Given the description of an element on the screen output the (x, y) to click on. 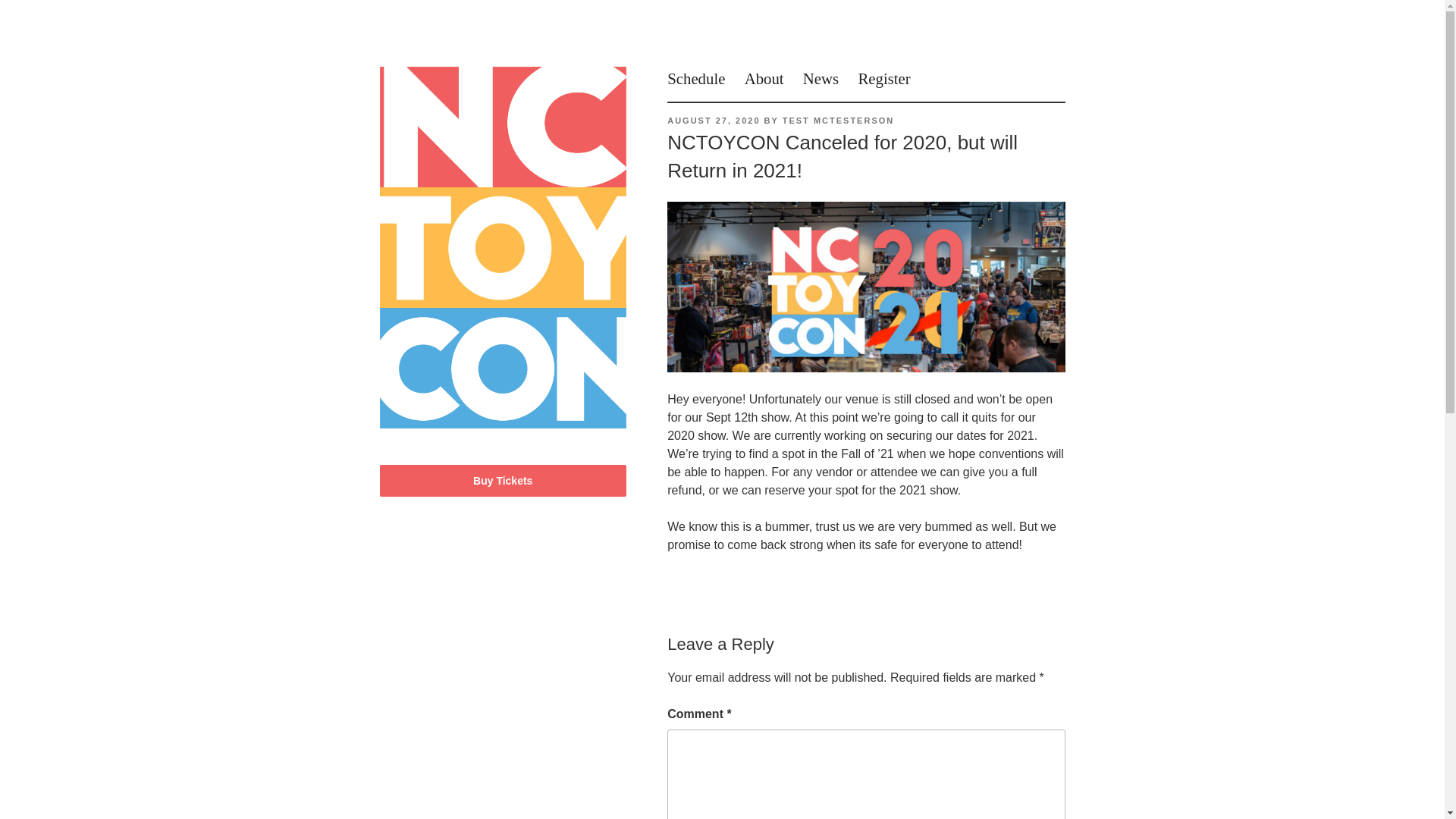
Schedule (695, 78)
AUGUST 27, 2020 (713, 120)
Buy Tickets (502, 480)
Register (883, 78)
About (764, 78)
News (820, 78)
TEST MCTESTERSON (839, 120)
